Given the description of an element on the screen output the (x, y) to click on. 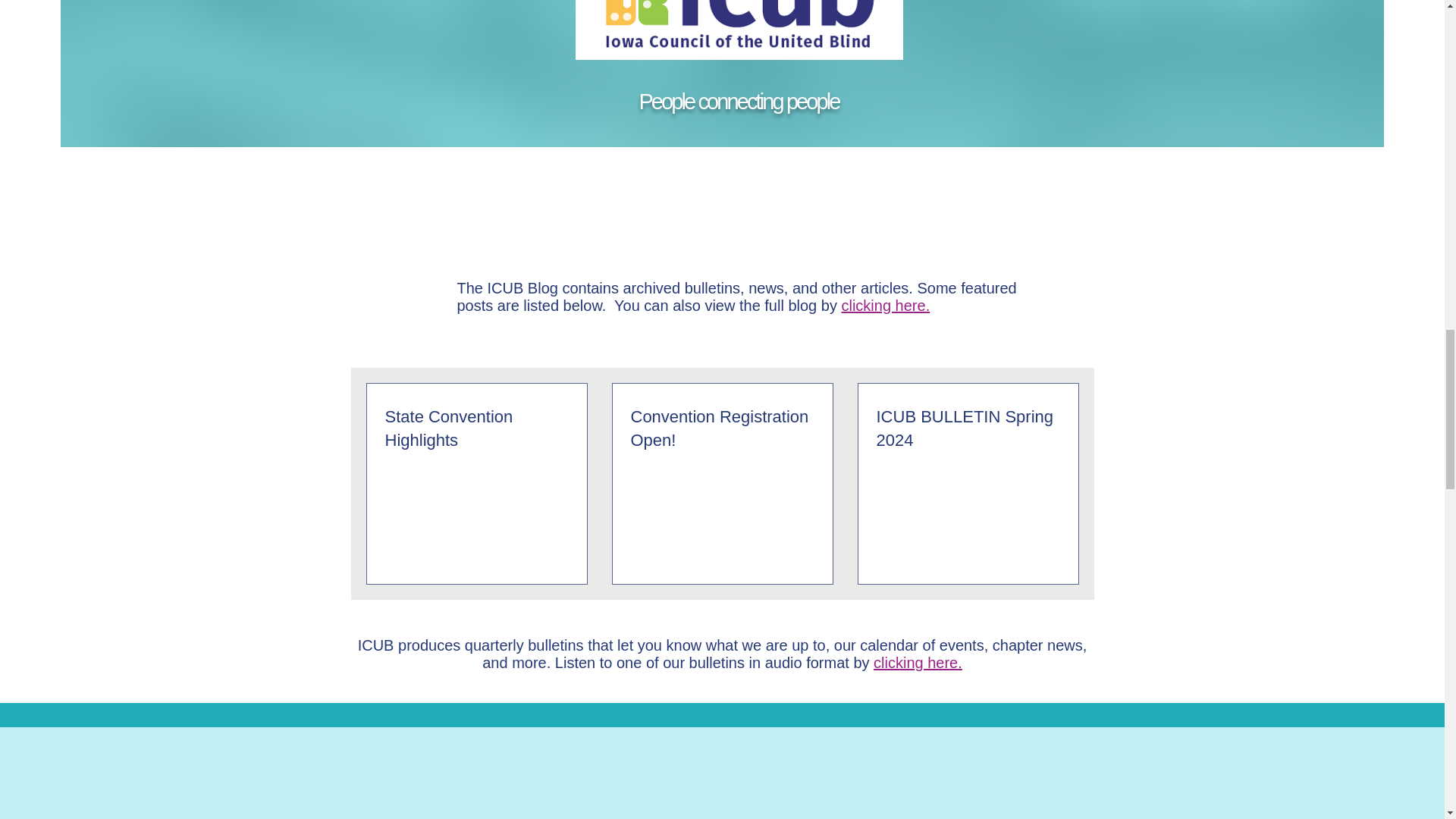
State Convention Highlights (477, 428)
Convention Registration Open! (721, 428)
ICUB BULLETIN Spring 2024 (967, 428)
clicking here. (885, 305)
clicking here. (917, 662)
